Given the description of an element on the screen output the (x, y) to click on. 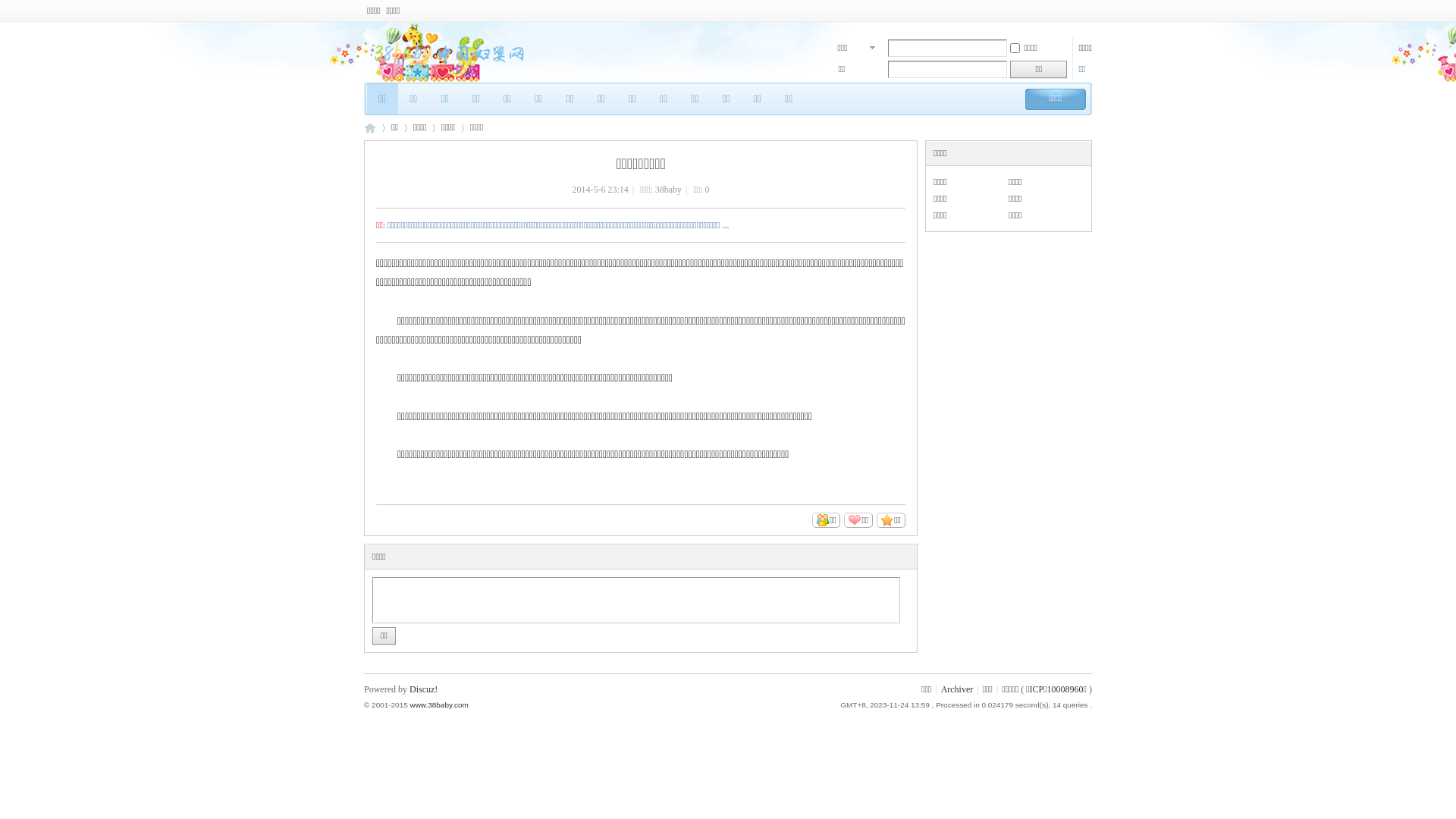
Archiver Element type: text (957, 689)
38baby Element type: text (668, 189)
www.38baby.com Element type: text (438, 704)
Discuz! Element type: text (423, 689)
